Given the description of an element on the screen output the (x, y) to click on. 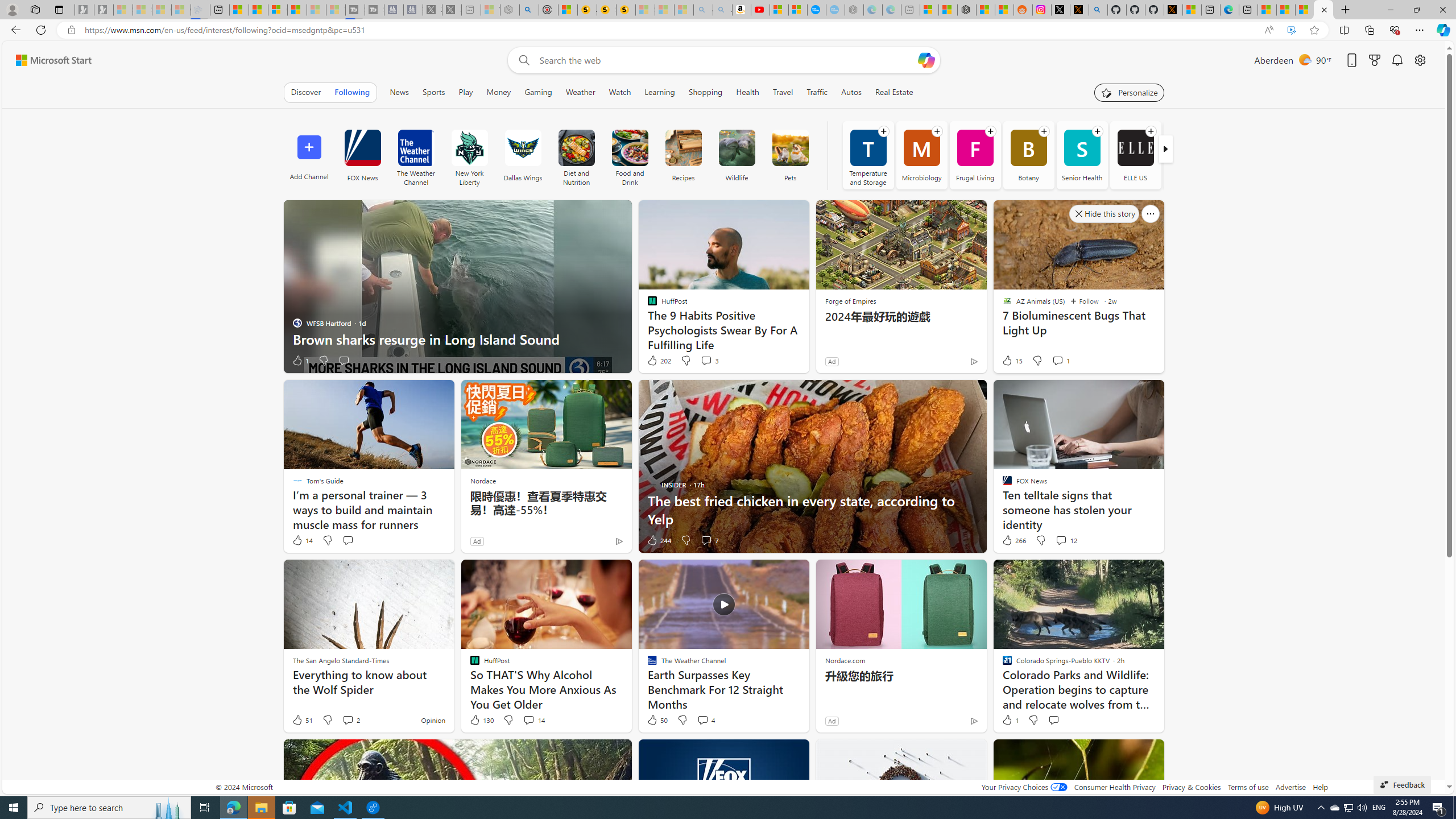
View comments 7 Comment (705, 540)
Weather (580, 92)
266 Like (1012, 539)
Dallas Wings (522, 147)
Log in to X / X (1060, 9)
